Given the description of an element on the screen output the (x, y) to click on. 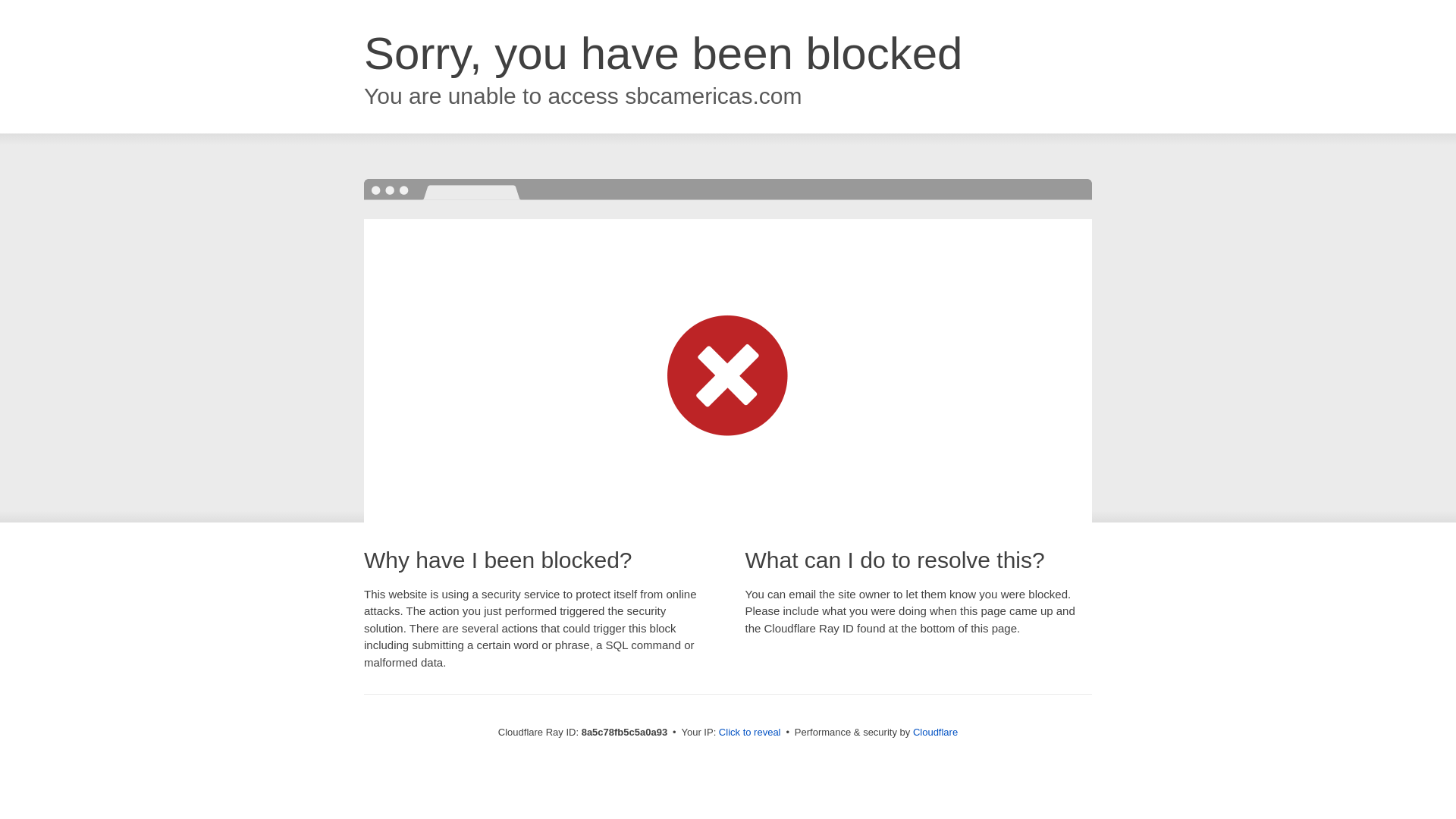
Click to reveal (749, 732)
Cloudflare (935, 731)
